Given the description of an element on the screen output the (x, y) to click on. 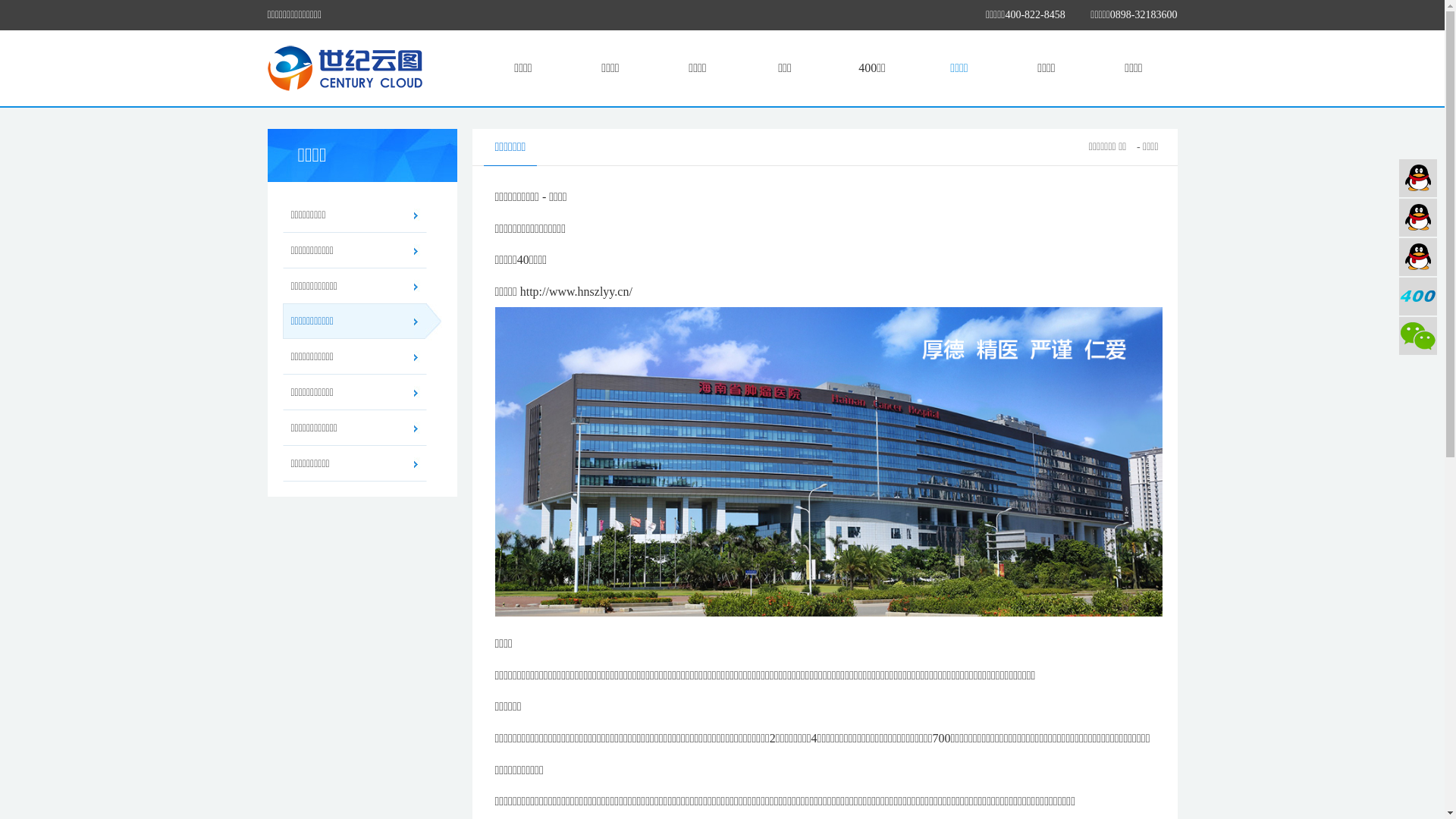
http://www.hnszlyy.cn/ Element type: text (576, 291)
